Given the description of an element on the screen output the (x, y) to click on. 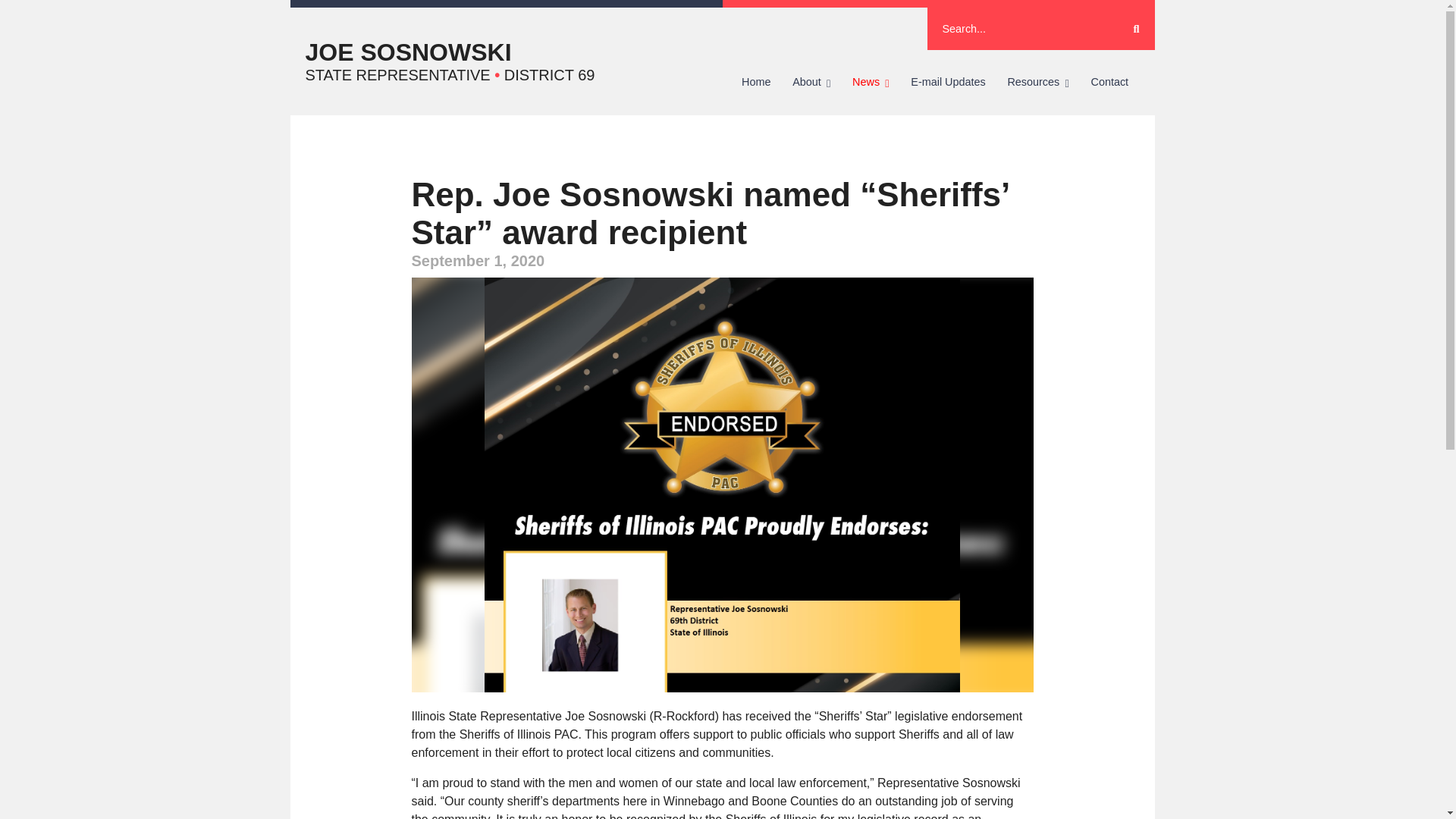
E-mail Updates (947, 82)
News (870, 82)
Home (755, 82)
Resources (1037, 82)
About (811, 82)
Contact (1109, 82)
